Given the description of an element on the screen output the (x, y) to click on. 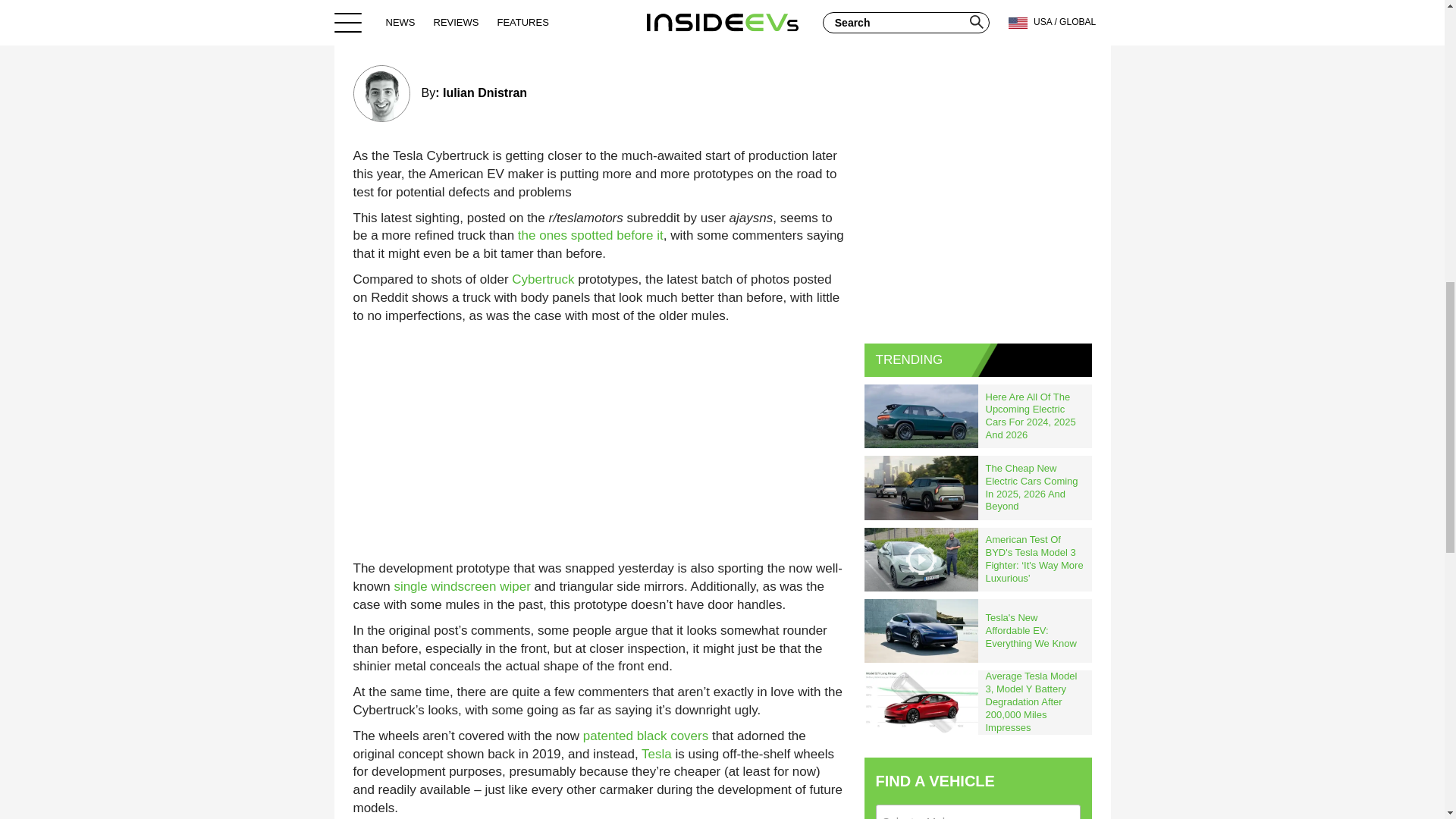
Cybertruck (542, 278)
Tesla (656, 753)
Iulian Dnistran (484, 92)
the ones spotted before it (590, 235)
single windscreen wiper (461, 586)
patented black covers (645, 735)
0 (826, 30)
